Given the description of an element on the screen output the (x, y) to click on. 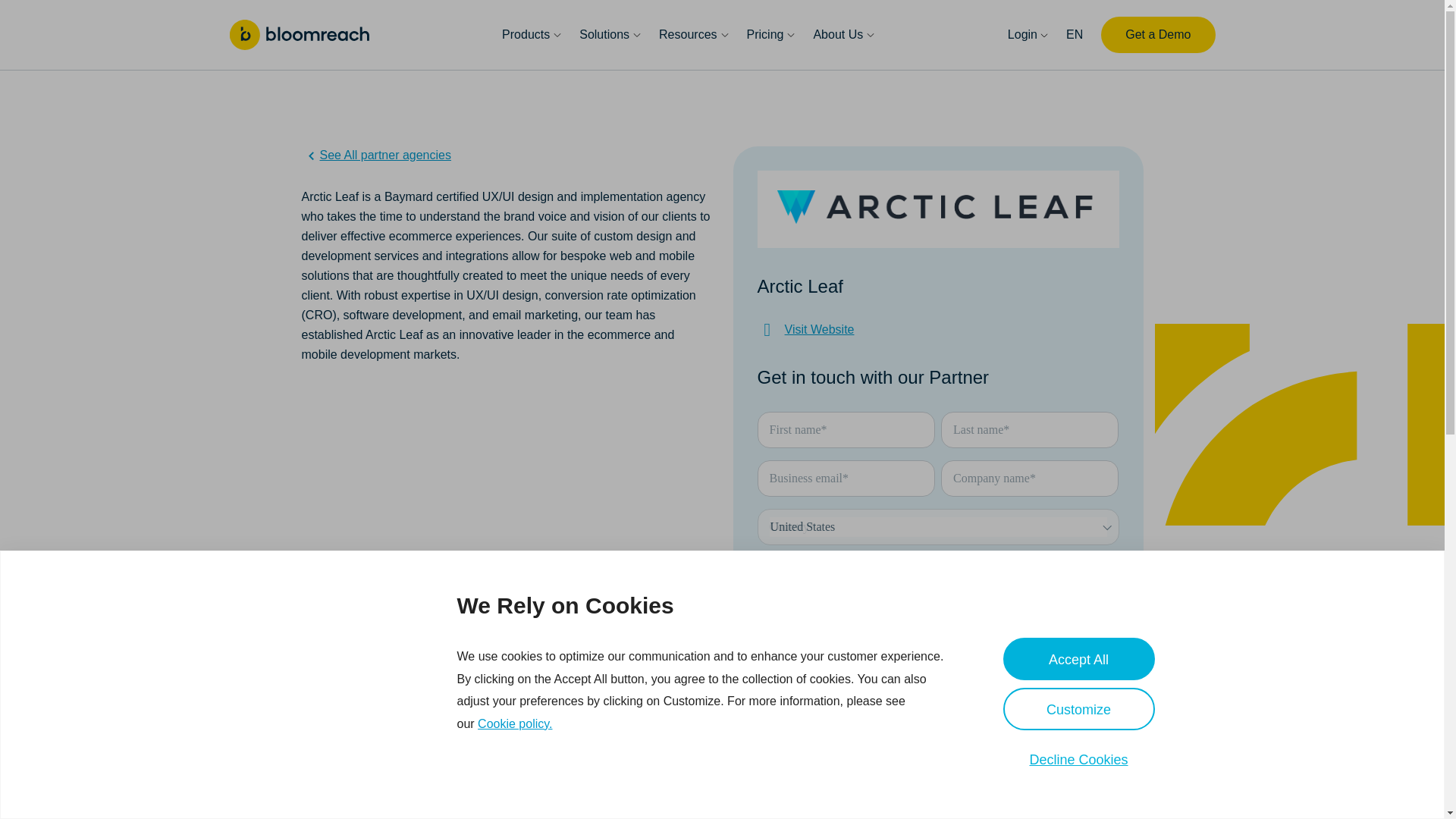
Accept All (1078, 659)
true (764, 563)
Decline Cookies (1078, 758)
Cookie policy. (514, 723)
Customize (1078, 708)
Register (804, 660)
